Given the description of an element on the screen output the (x, y) to click on. 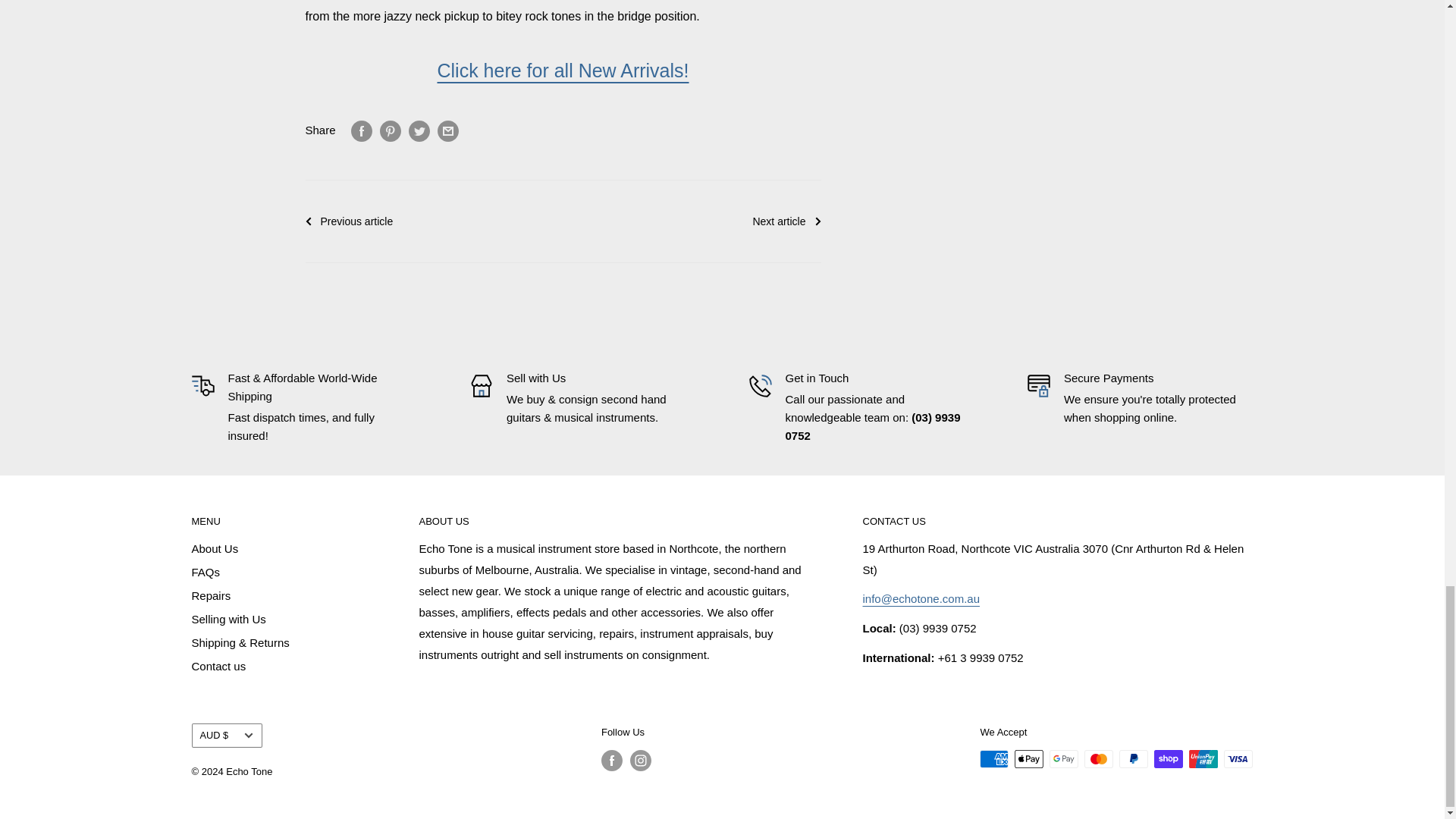
New Arrivals (562, 70)
